Given the description of an element on the screen output the (x, y) to click on. 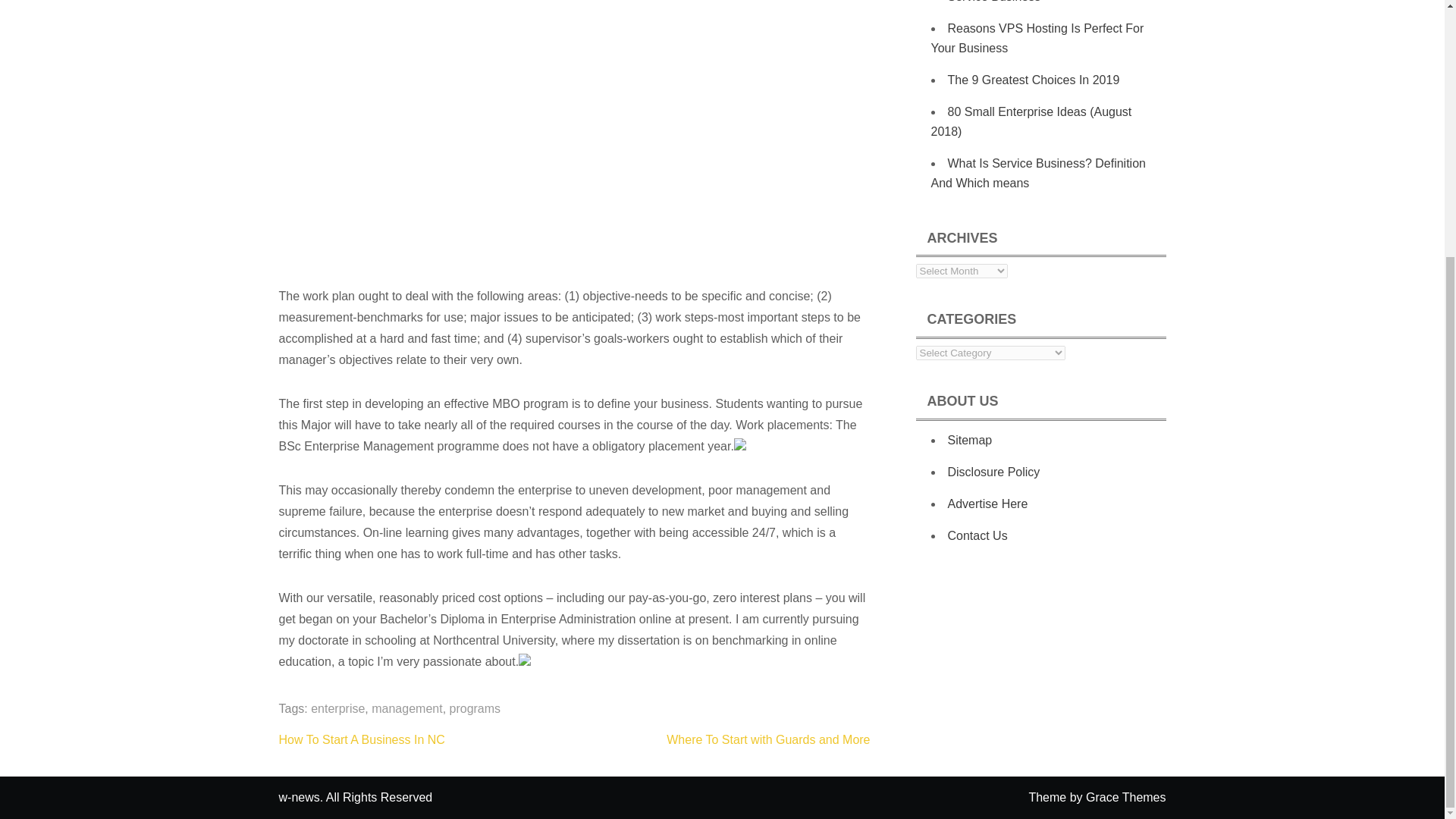
enterprise (338, 707)
programs (474, 707)
management (406, 707)
Where To Start with Guards and More (767, 739)
How To Start A Business In NC (362, 739)
Service Business (994, 1)
